Given the description of an element on the screen output the (x, y) to click on. 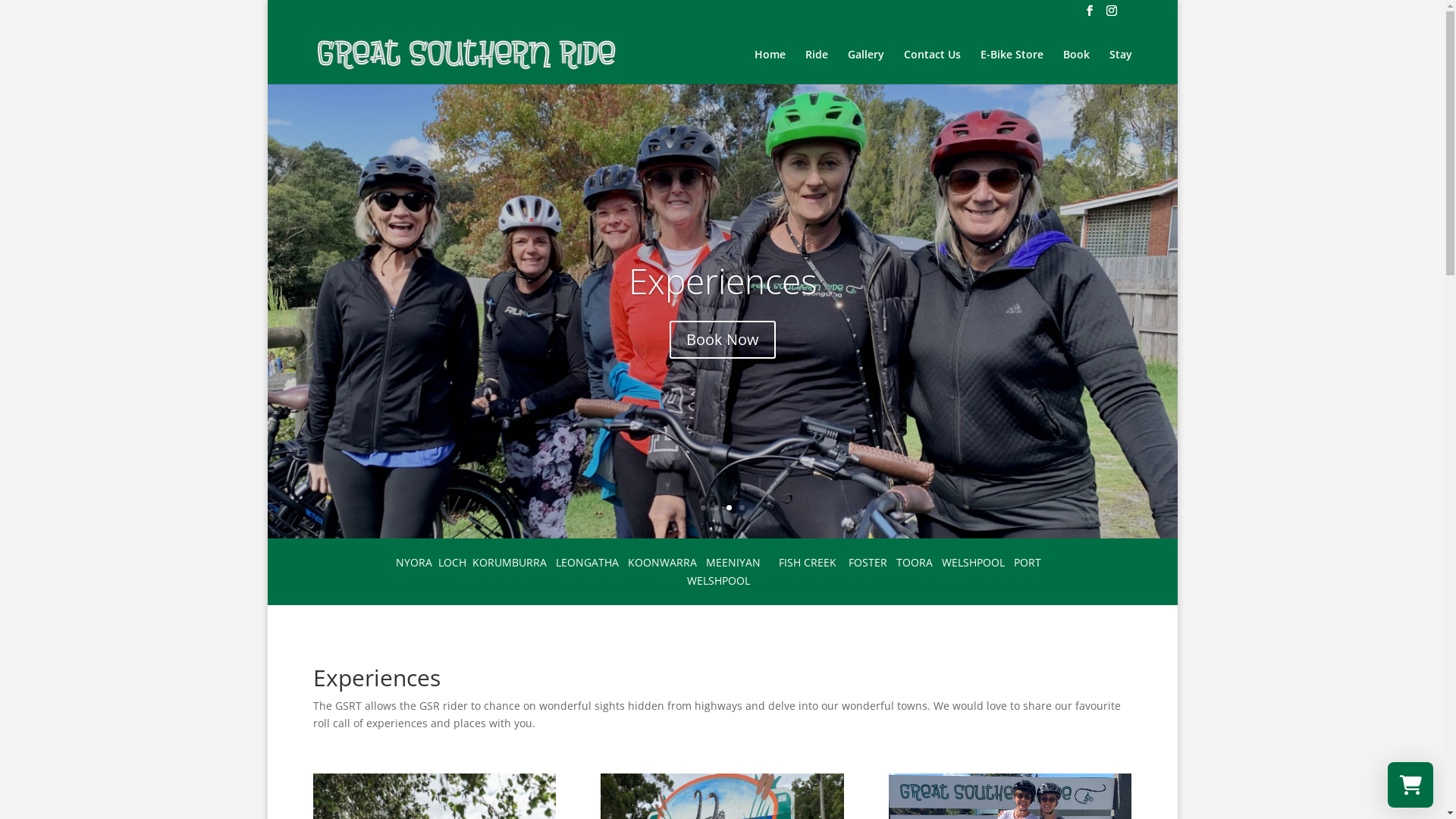
Gallery Element type: text (865, 65)
Home Element type: text (768, 65)
Book Now Element type: text (721, 339)
Ride Element type: text (816, 65)
Contact Us Element type: text (931, 65)
Experiences Element type: text (721, 280)
Book Element type: text (1076, 65)
E-Bike Store Element type: text (1010, 65)
1 Element type: text (703, 507)
3 Element type: text (728, 507)
4 Element type: text (740, 507)
2 Element type: text (715, 507)
Stay Element type: text (1119, 65)
